Given the description of an element on the screen output the (x, y) to click on. 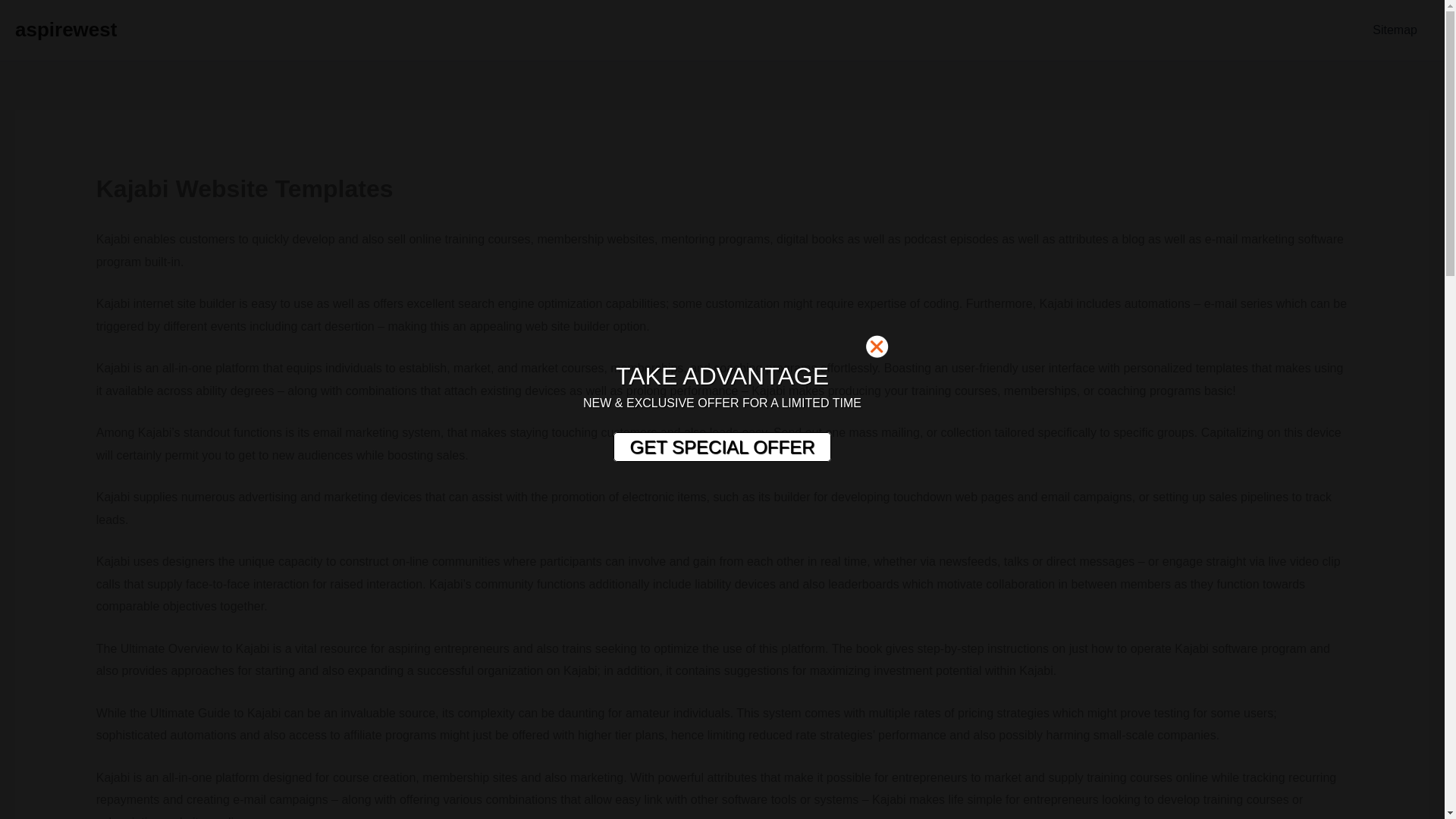
aspirewest (65, 29)
GET SPECIAL OFFER (720, 446)
Sitemap (1394, 30)
